Given the description of an element on the screen output the (x, y) to click on. 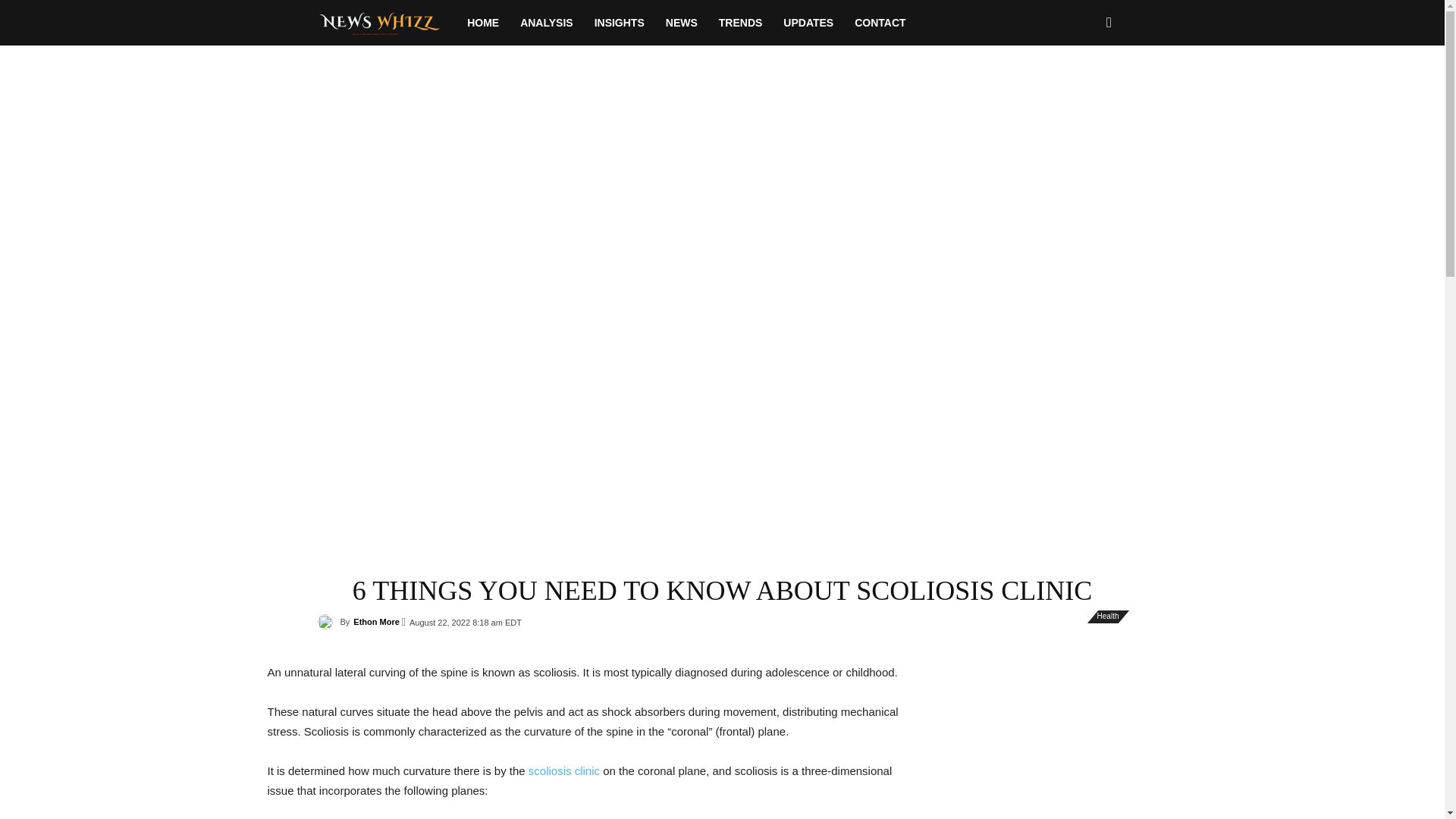
UPDATES (808, 22)
NEWS (681, 22)
Ethon More (375, 621)
TRENDS (740, 22)
HOME (483, 22)
ANALYSIS (546, 22)
CONTACT (879, 22)
Search (1085, 87)
Latest Worldwide Tech, Entertainment News Whizz (387, 22)
scoliosis clinic (563, 770)
INSIGHTS (619, 22)
Health (1108, 616)
